Given the description of an element on the screen output the (x, y) to click on. 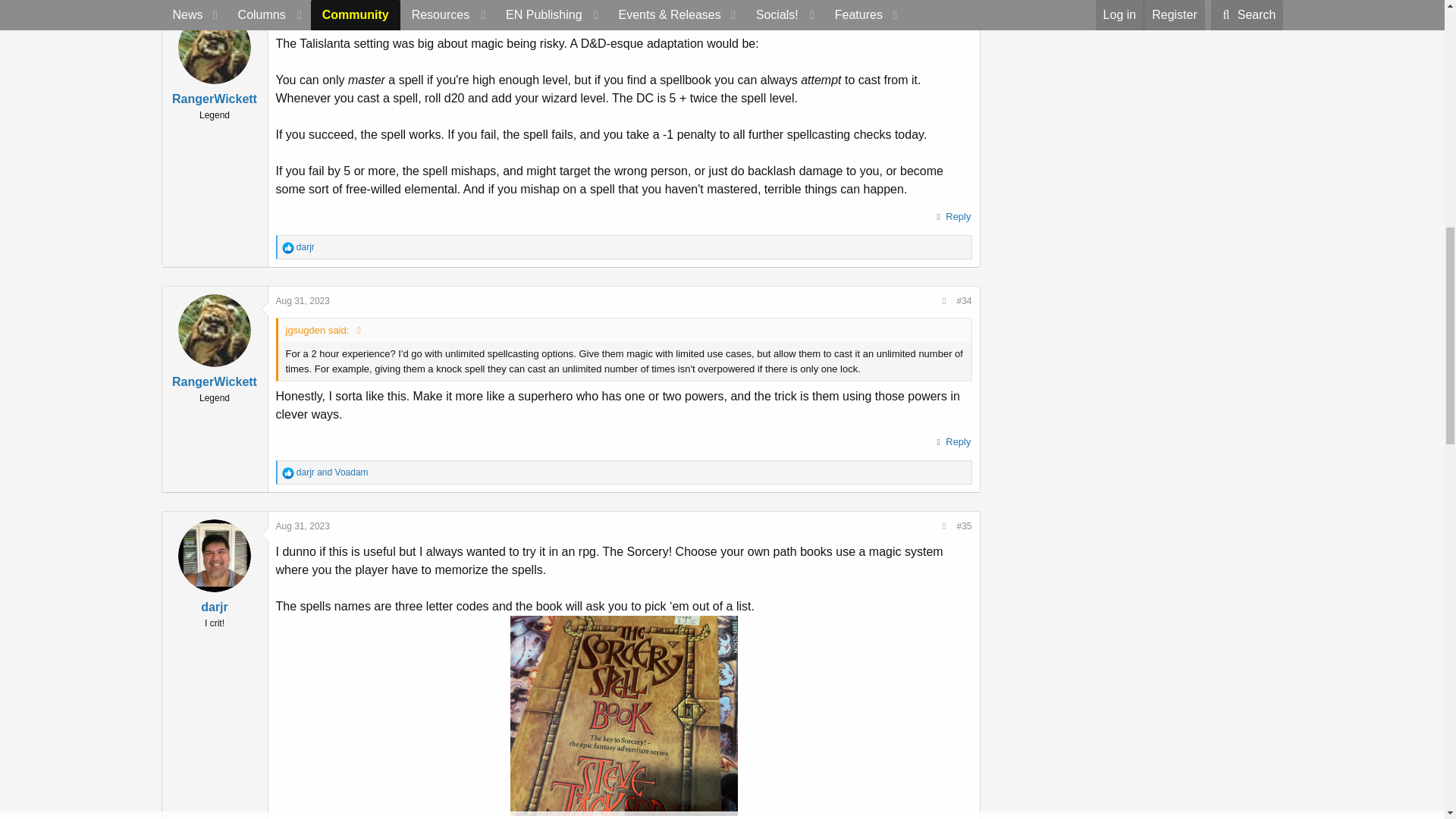
Aug 31, 2023 at 5:15 AM (303, 300)
Aug 31, 2023 at 5:13 AM (303, 18)
Like (288, 472)
Reply, quoting this message (952, 441)
Reply, quoting this message (952, 216)
Like (288, 247)
Aug 31, 2023 at 6:18 PM (303, 525)
